Given the description of an element on the screen output the (x, y) to click on. 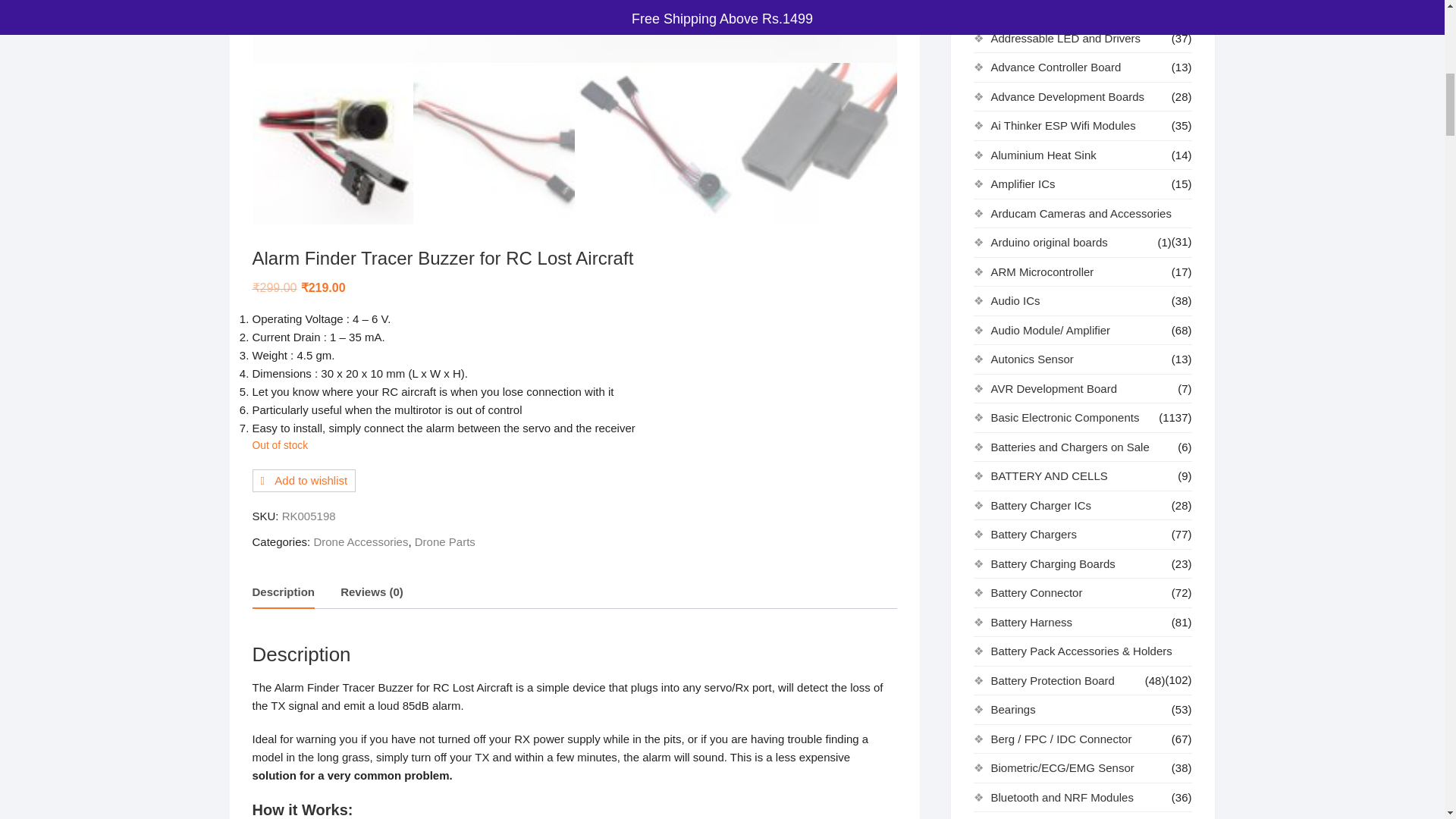
Add to wishlist (303, 480)
Description (282, 592)
Drone Parts (445, 541)
Drone Accessories (360, 541)
robu-3-7 (573, 31)
